Given the description of an element on the screen output the (x, y) to click on. 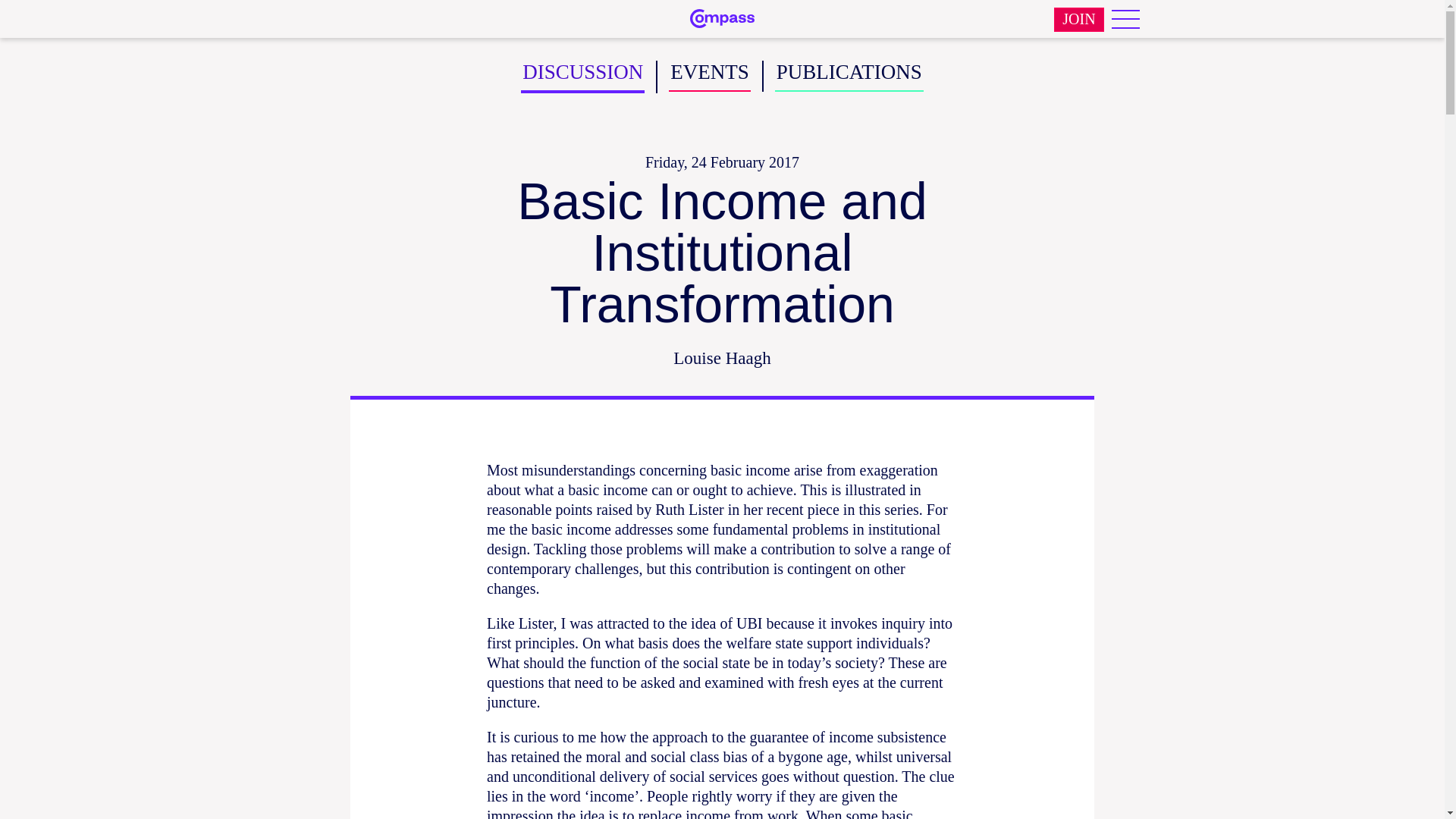
JOIN (1078, 19)
PUBLICATIONS (848, 75)
Join Compass today (1078, 19)
EVENTS (709, 75)
DISCUSSION (583, 76)
